Given the description of an element on the screen output the (x, y) to click on. 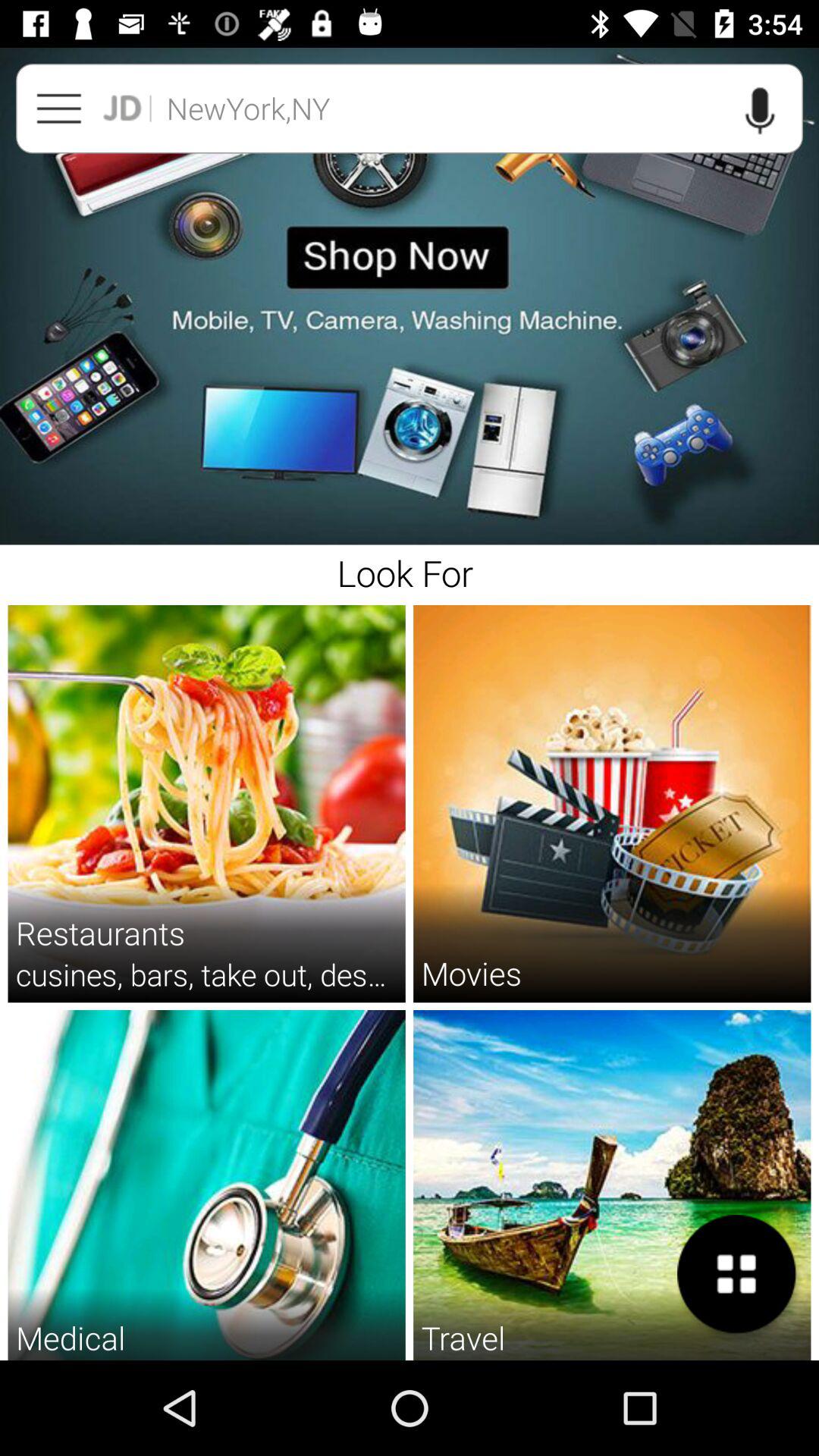
select the cusines bars take item (206, 974)
